Given the description of an element on the screen output the (x, y) to click on. 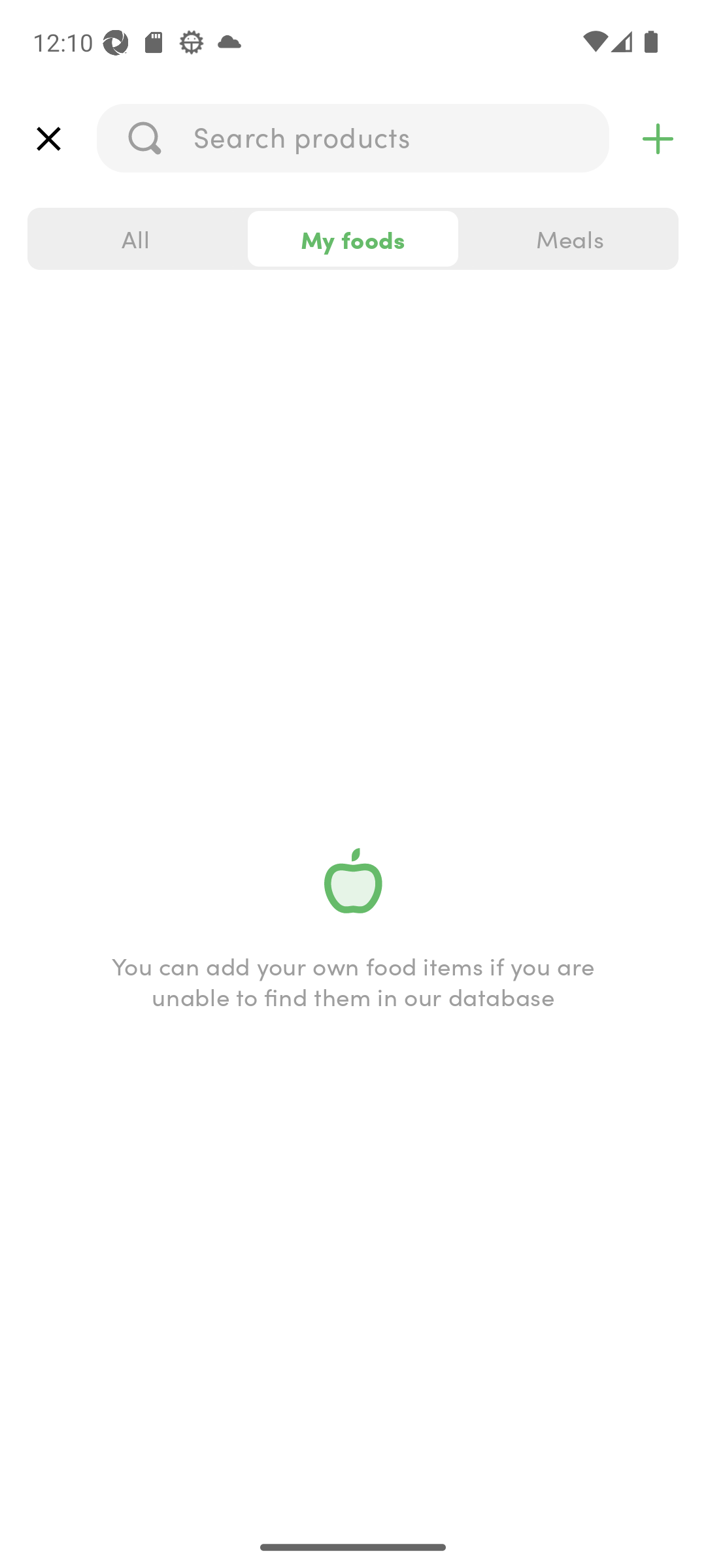
top_left_action (48, 138)
top_right_action (658, 138)
All (136, 238)
Meals (569, 238)
